Given the description of an element on the screen output the (x, y) to click on. 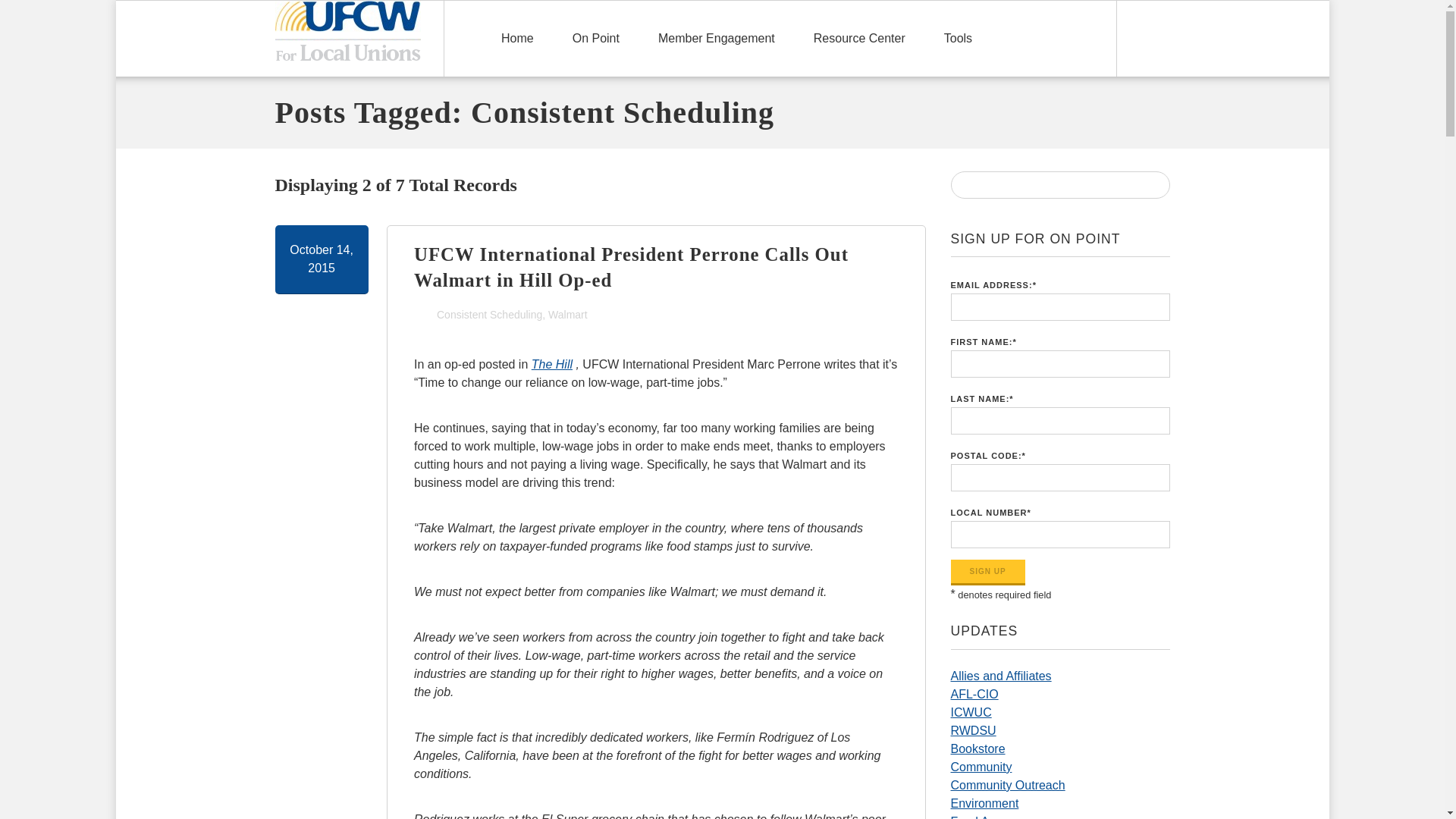
Allies and Affiliates (1000, 675)
ICWUC (970, 712)
Resource Center (859, 38)
RWDSU (972, 730)
Sign Up (987, 572)
Home (517, 38)
Sign Up (987, 572)
The Hill (551, 364)
Walmart (568, 313)
On Point (595, 38)
Environment (984, 802)
Member Engagement (716, 38)
Food Access (985, 816)
